Given the description of an element on the screen output the (x, y) to click on. 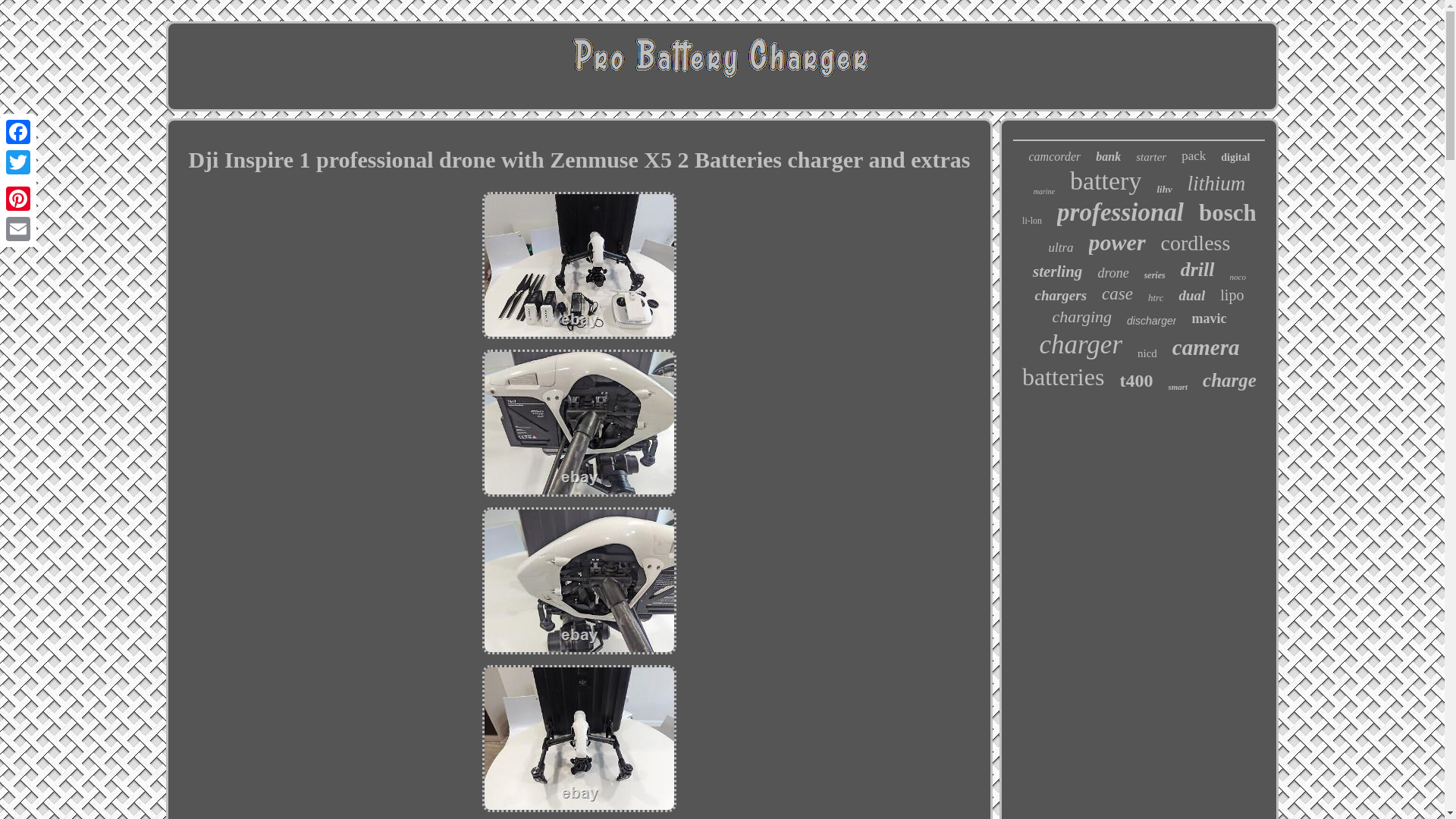
Twitter (17, 162)
mavic (1208, 318)
professional (1120, 212)
lipo (1231, 294)
marine (1043, 191)
lithium (1217, 183)
battery (1105, 181)
starter (1150, 156)
charging (1081, 316)
